Given the description of an element on the screen output the (x, y) to click on. 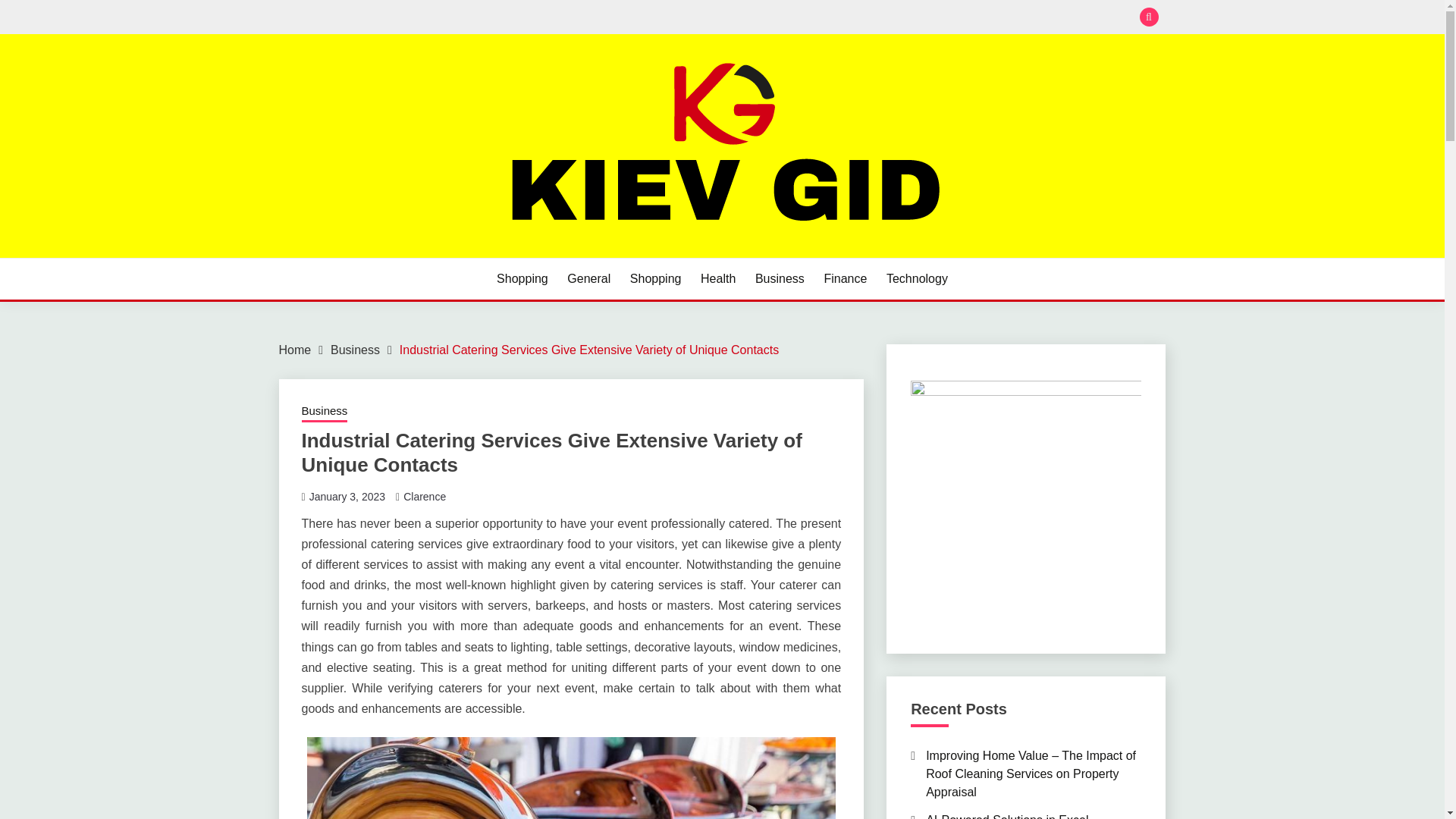
General (588, 279)
KIEV GID (340, 255)
Shopping (655, 279)
January 3, 2023 (346, 495)
Business (355, 349)
Home (295, 349)
Finance (845, 279)
Search (832, 18)
Clarence (424, 495)
Technology (916, 279)
Shopping (522, 279)
Business (324, 412)
Health (717, 279)
Business (780, 279)
